Given the description of an element on the screen output the (x, y) to click on. 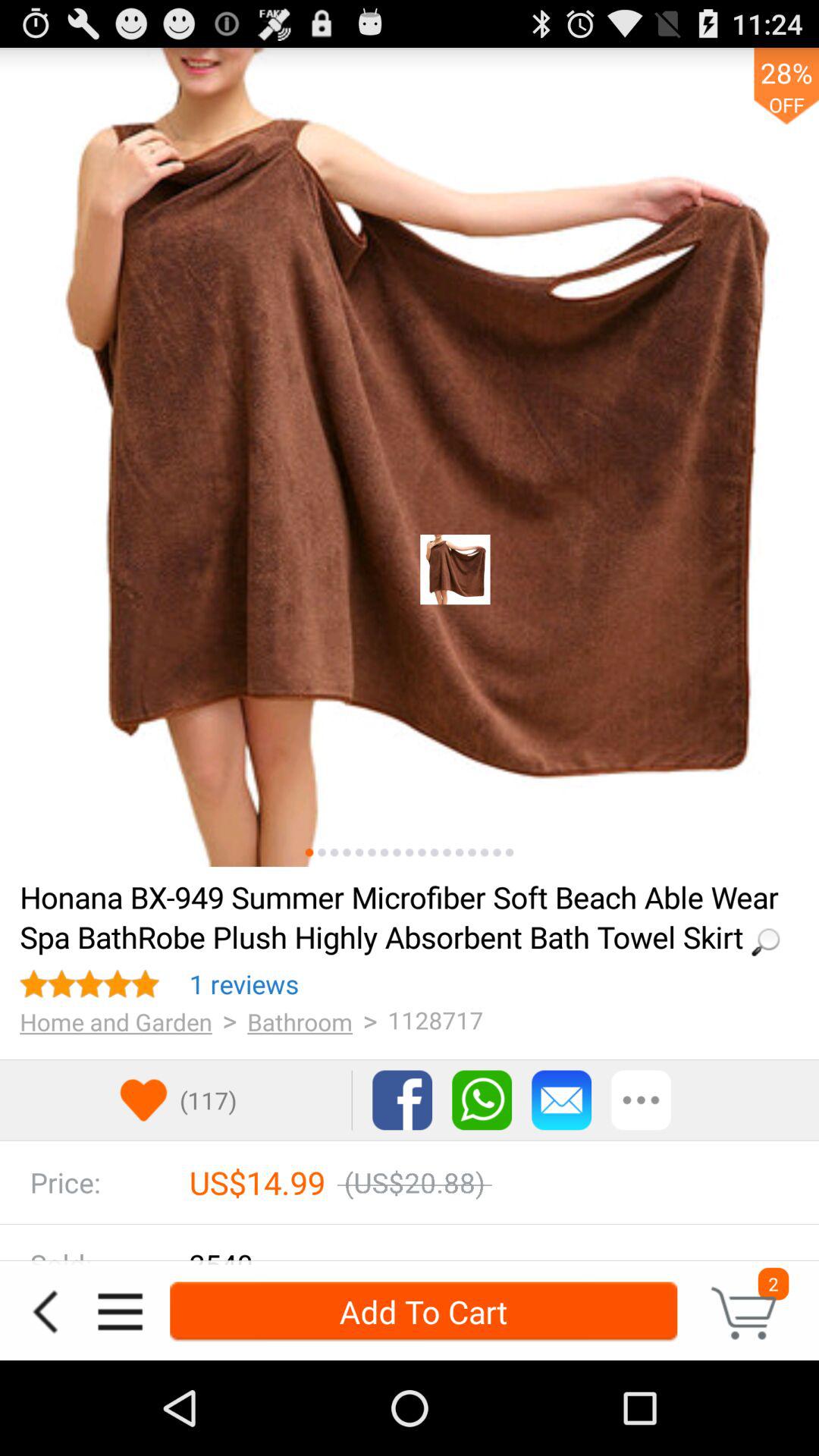
go to this image (309, 852)
